Given the description of an element on the screen output the (x, y) to click on. 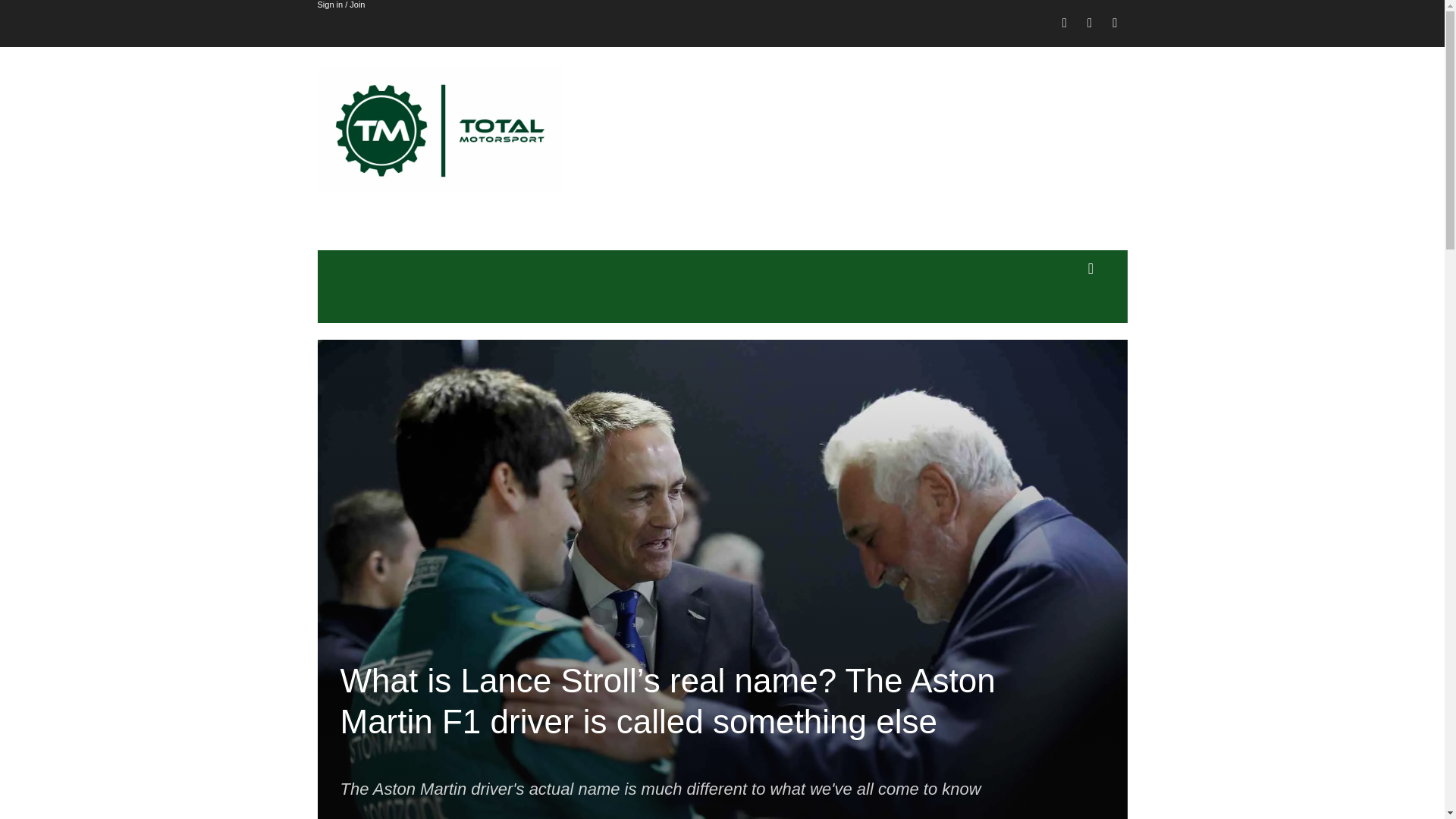
Twitter (1114, 23)
Facebook (1064, 23)
Instagram (1089, 23)
